Given the description of an element on the screen output the (x, y) to click on. 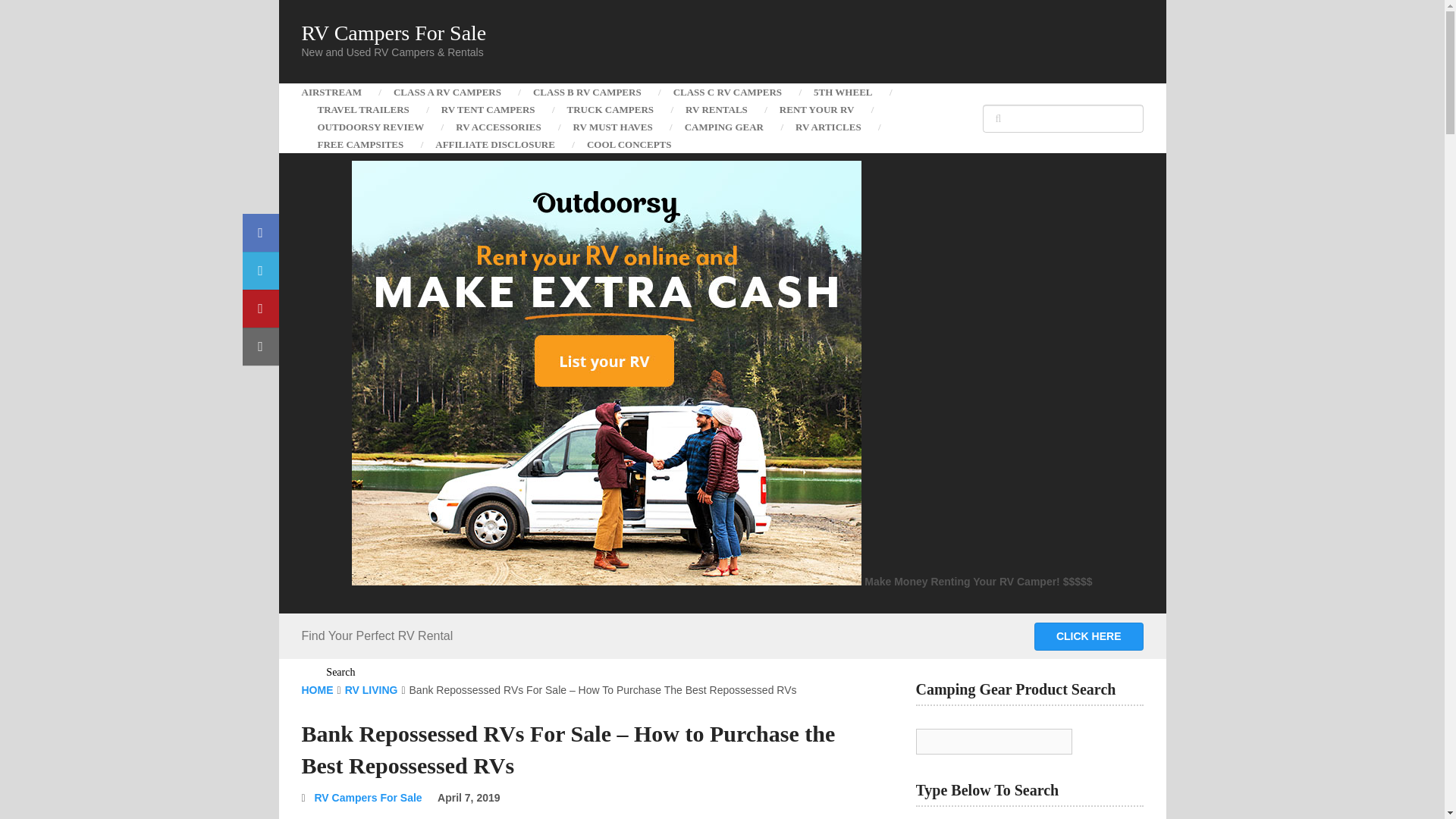
HOME (317, 689)
RV Campers For Sale (393, 33)
RV ACCESSORIES (497, 126)
Search (341, 672)
OUTDOORSY REVIEW (371, 126)
RV Campers For Sale (368, 797)
Posts by RV Campers For Sale (368, 797)
CLASS B RV CAMPERS (587, 91)
RV ARTICLES (827, 126)
RV RENTALS (715, 108)
AFFILIATE DISCLOSURE (494, 144)
TRAVEL TRAILERS (363, 108)
AIRSTREAM (339, 91)
CLICK HERE (1087, 635)
FREE CAMPSITES (360, 144)
